Given the description of an element on the screen output the (x, y) to click on. 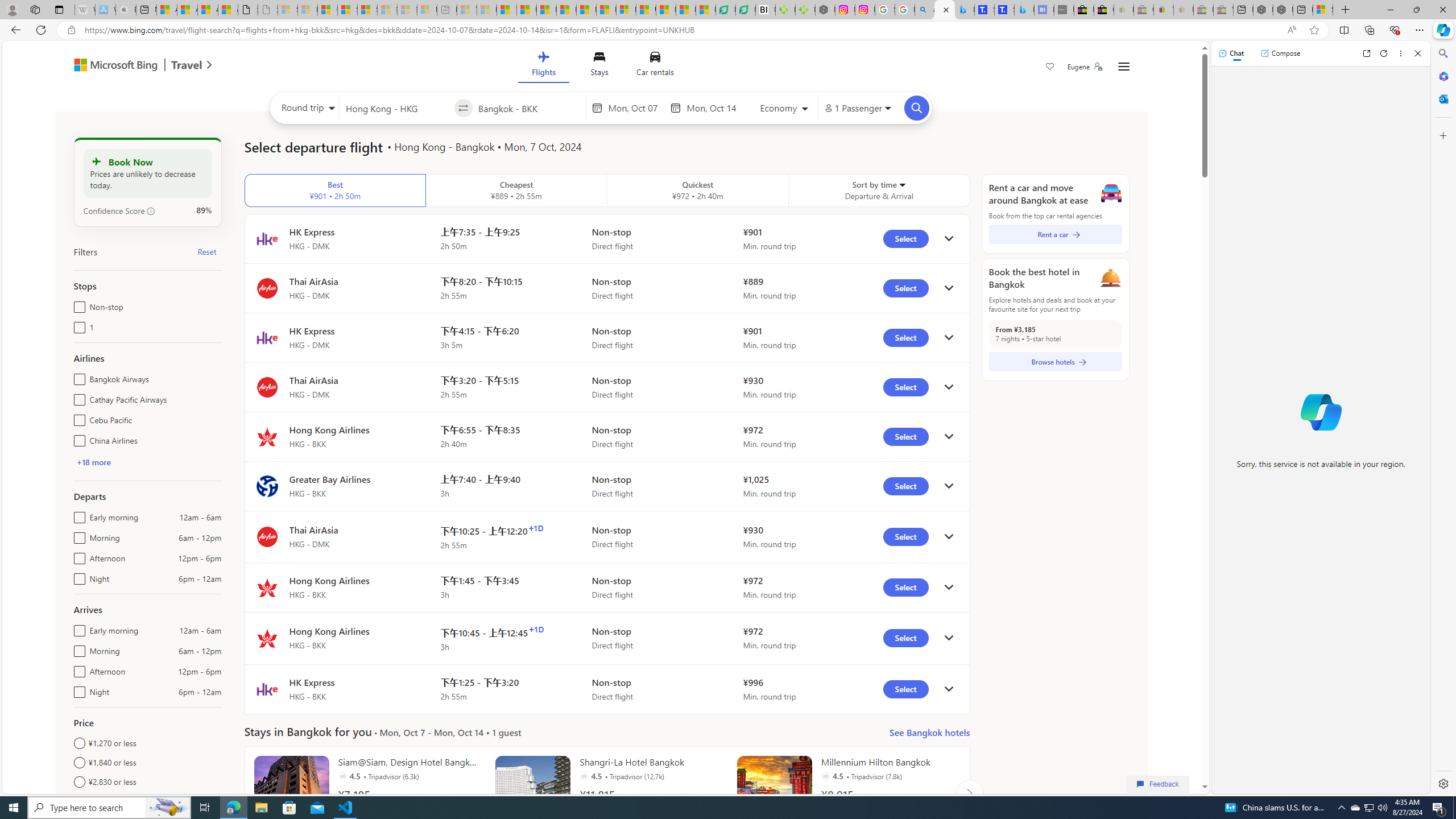
Afternoon12pm - 6pm (76, 669)
Rent a car (1055, 234)
Class: autosuggest-container full-height no-y-padding (528, 107)
1 Passenger (857, 108)
Compose (1280, 52)
Any price (146, 801)
End date (713, 107)
1 (76, 325)
